Given the description of an element on the screen output the (x, y) to click on. 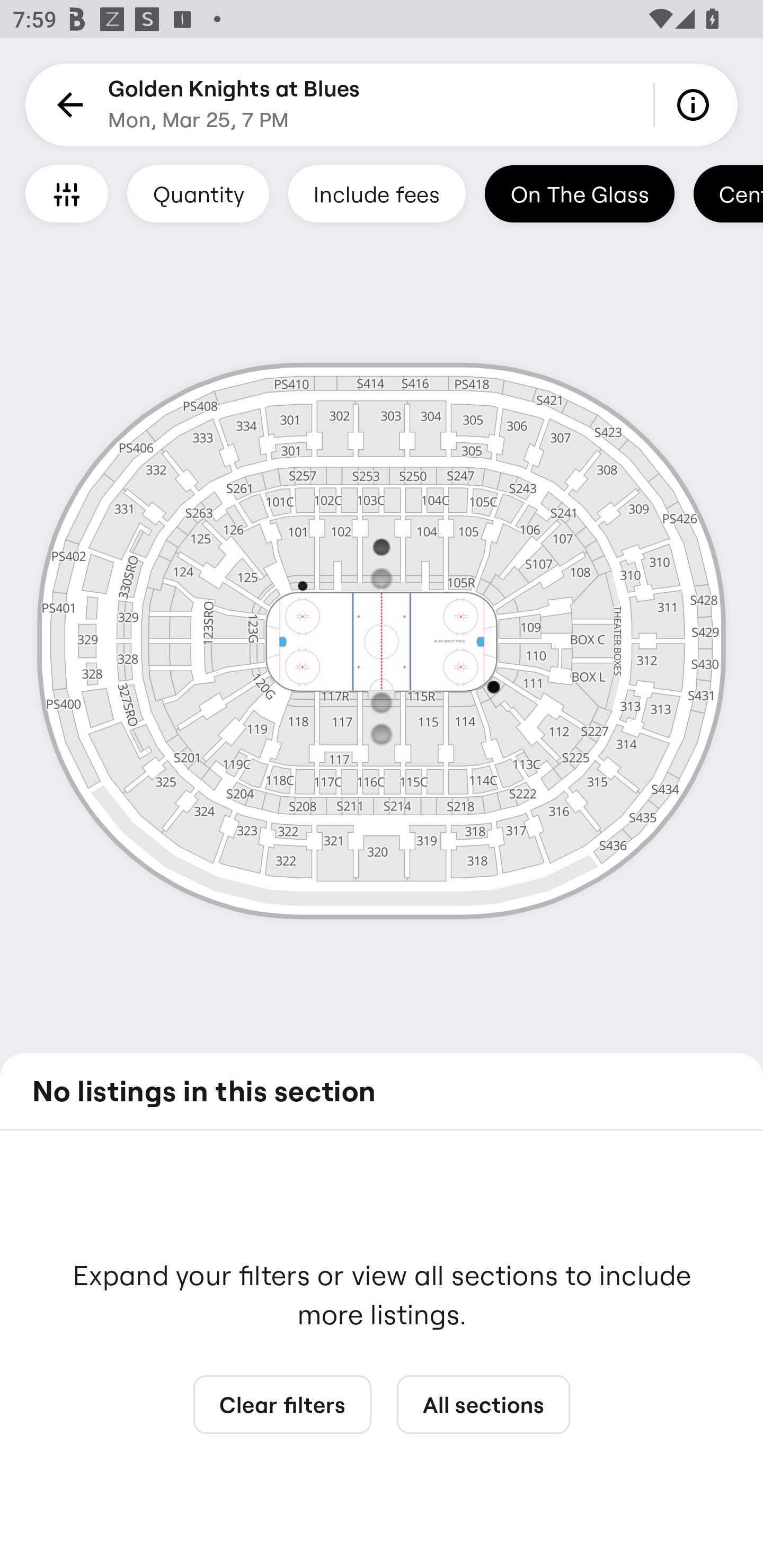
Back (66, 104)
Golden Knights at Blues Mon, Mar 25, 7 PM (234, 104)
Info (695, 104)
Filters and Accessible Seating (66, 193)
Quantity (198, 193)
Include fees (376, 193)
On The Glass (579, 193)
Clear filters (282, 1404)
All sections (482, 1404)
